Given the description of an element on the screen output the (x, y) to click on. 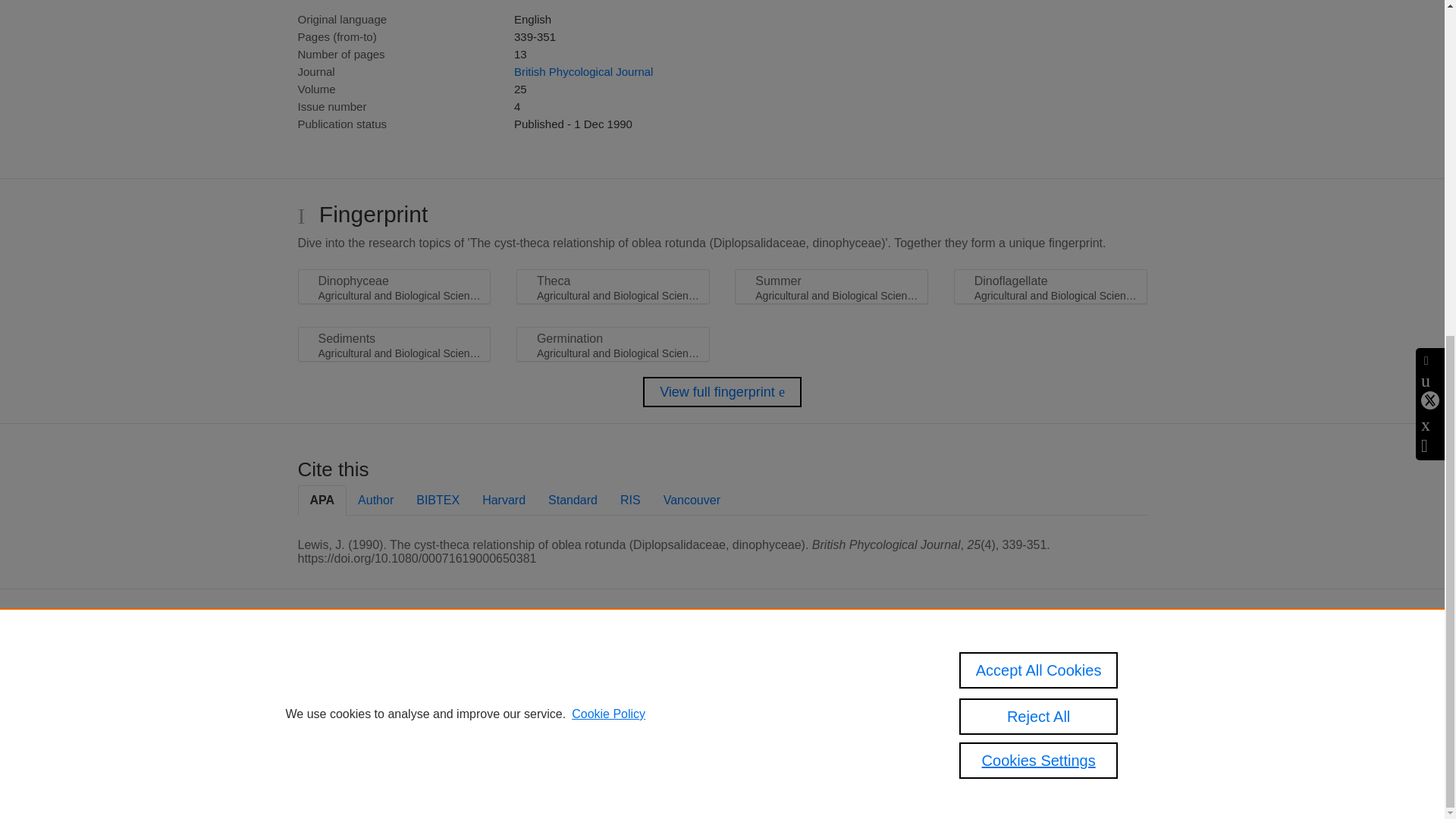
Pure (620, 664)
View full fingerprint (722, 391)
British Phycological Journal (582, 71)
